Given the description of an element on the screen output the (x, y) to click on. 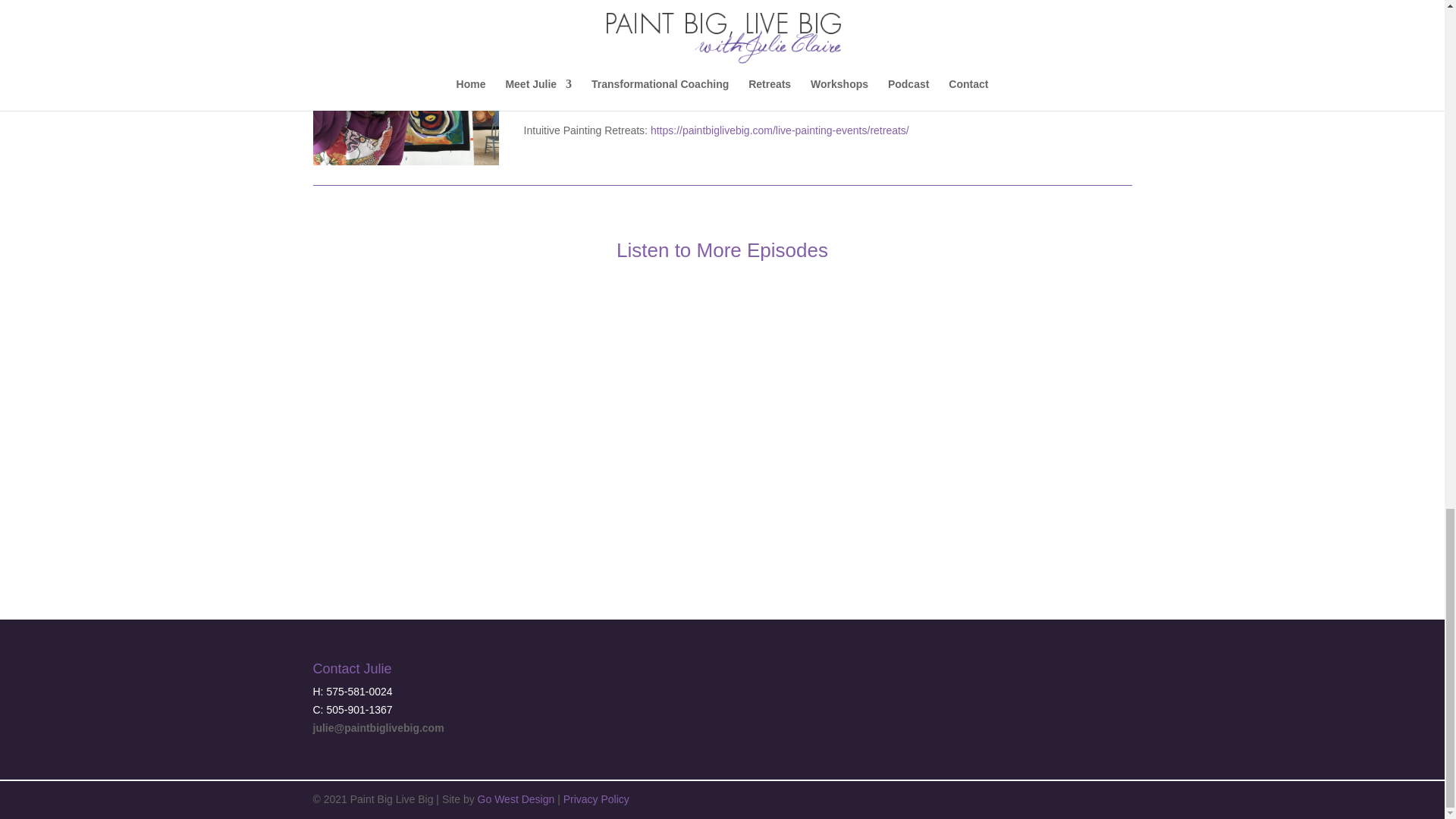
Privacy Policy (595, 799)
Go West Design (515, 799)
